Given the description of an element on the screen output the (x, y) to click on. 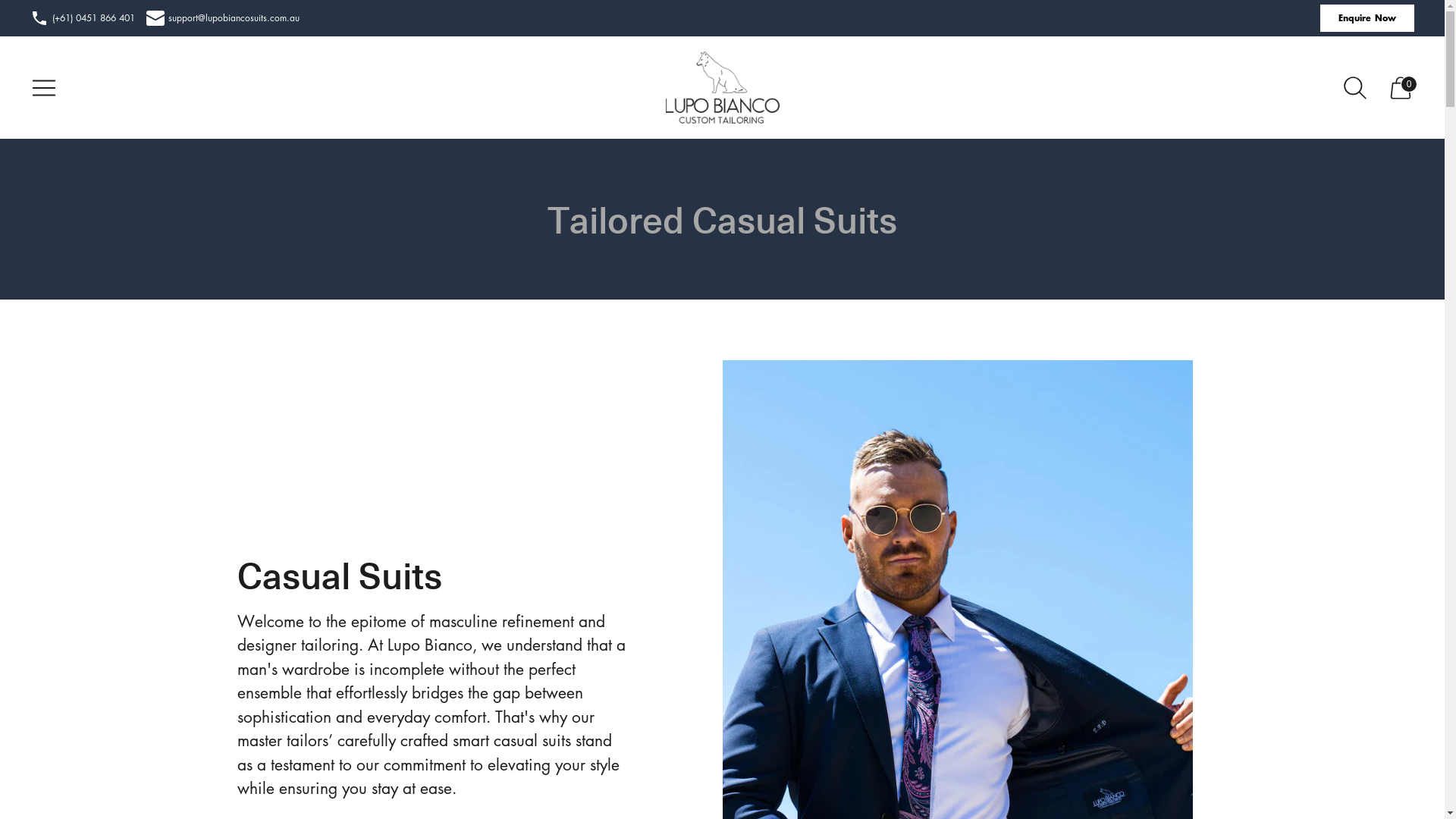
Enquire Now Element type: text (1367, 17)
0 Element type: text (1400, 87)
support@lupobiancosuits.com.au Element type: text (222, 18)
(+61) 0451 866 401 Element type: text (82, 18)
